Given the description of an element on the screen output the (x, y) to click on. 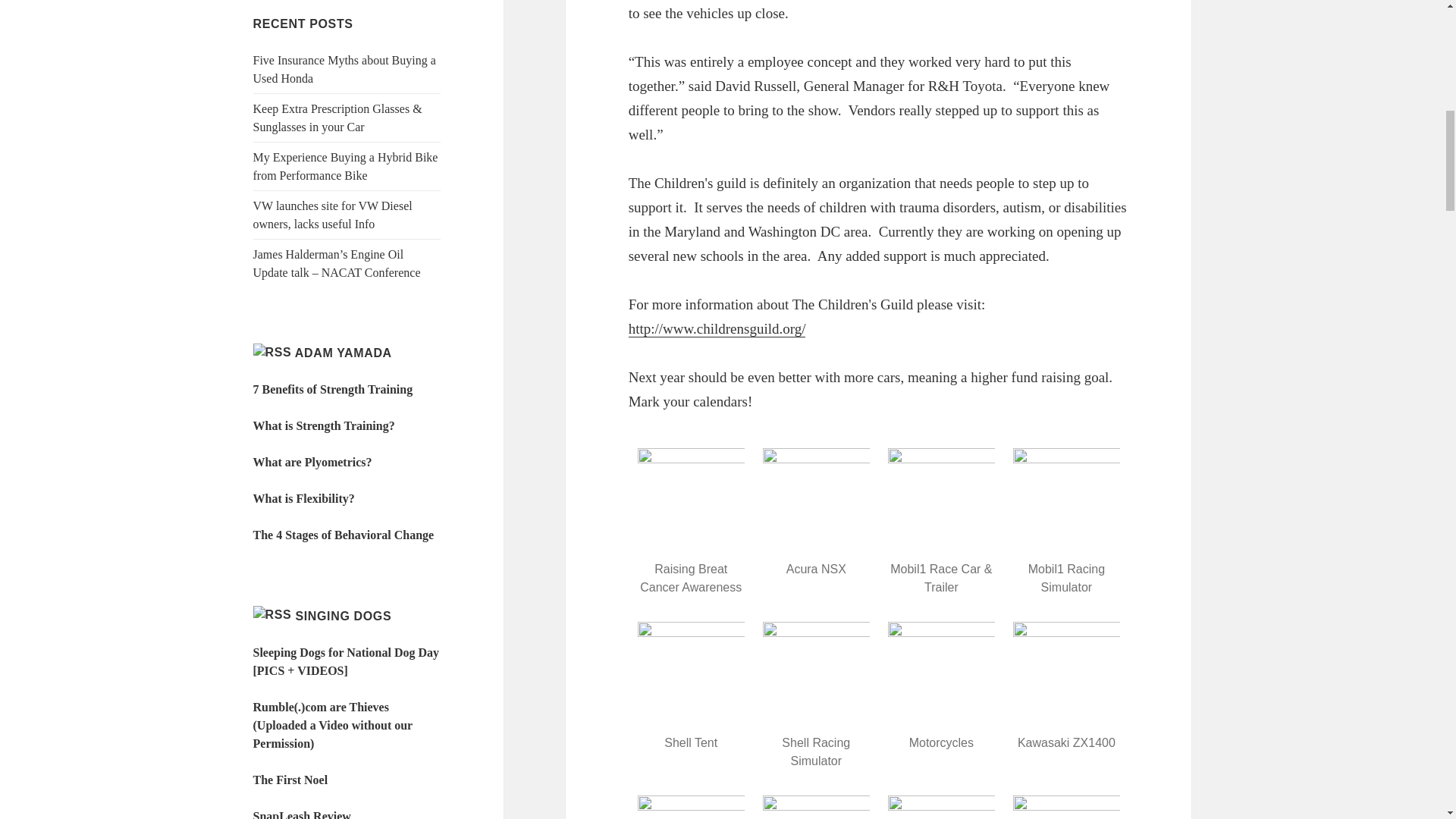
VW launches site for VW Diesel owners, lacks useful Info (332, 214)
What is Strength Training? (323, 425)
7 Benefits of Strength Training (333, 389)
SINGING DOGS (343, 615)
Five Insurance Myths about Buying a Used Honda (344, 69)
The First Noel (291, 779)
My Experience Buying a Hybrid Bike from Performance Bike (345, 165)
The 4 Stages of Behavioral Change (343, 534)
What are Plyometrics? (312, 461)
ADAM YAMADA (343, 352)
What is Flexibility? (304, 498)
SnapLeash Review (301, 814)
